Given the description of an element on the screen output the (x, y) to click on. 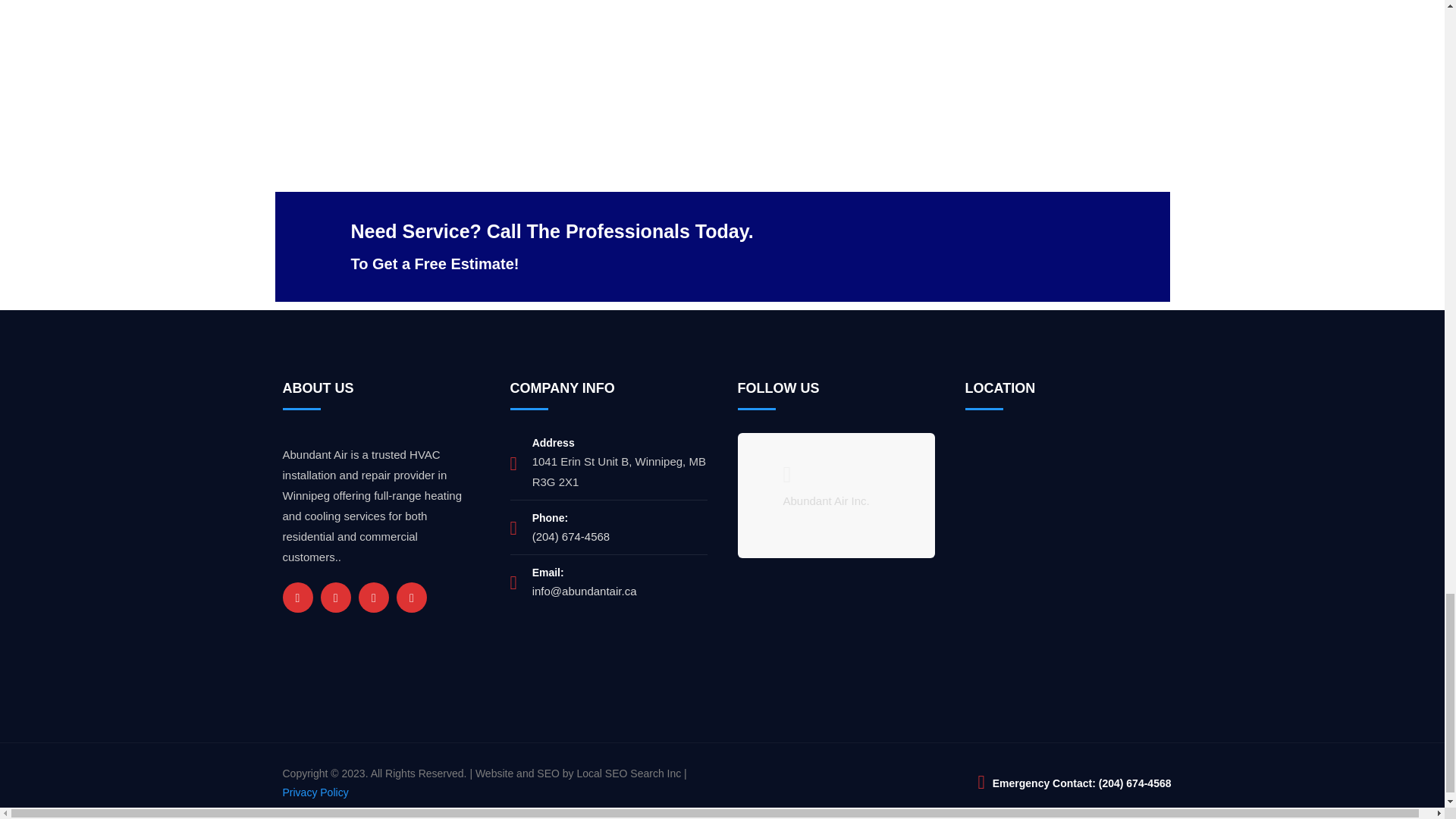
Youtube (411, 597)
Linkedin (373, 597)
Facebook (297, 597)
Twitter (335, 597)
